Given the description of an element on the screen output the (x, y) to click on. 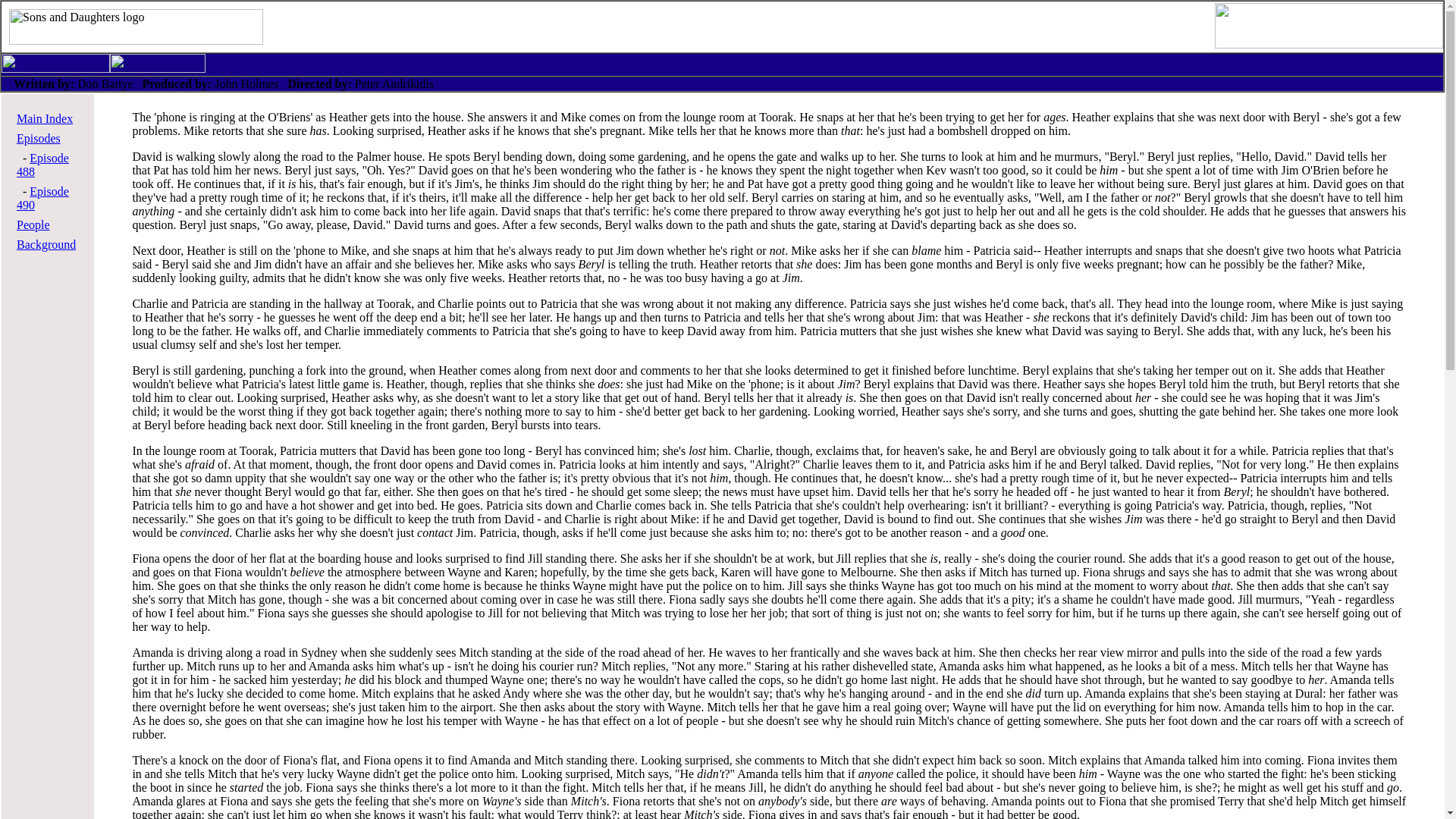
Episodes (38, 137)
Background (45, 244)
Main Index (44, 118)
Episode 490 (42, 198)
People (32, 224)
Episode 488 (42, 164)
